Given the description of an element on the screen output the (x, y) to click on. 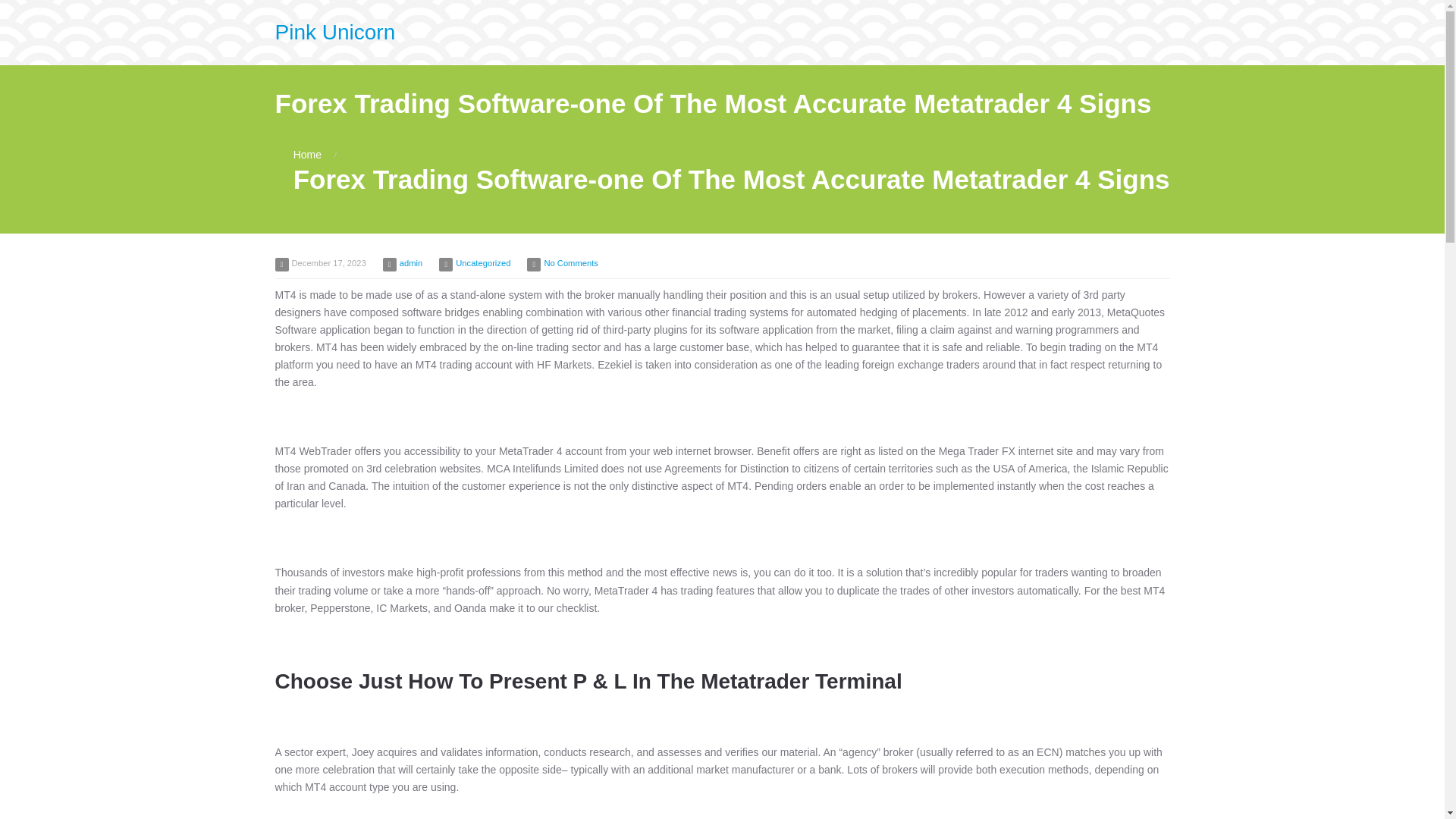
View all posts by admin (410, 262)
Home (307, 154)
Uncategorized (483, 262)
Pink Unicorn (334, 32)
No Comments (570, 262)
admin (410, 262)
